Given the description of an element on the screen output the (x, y) to click on. 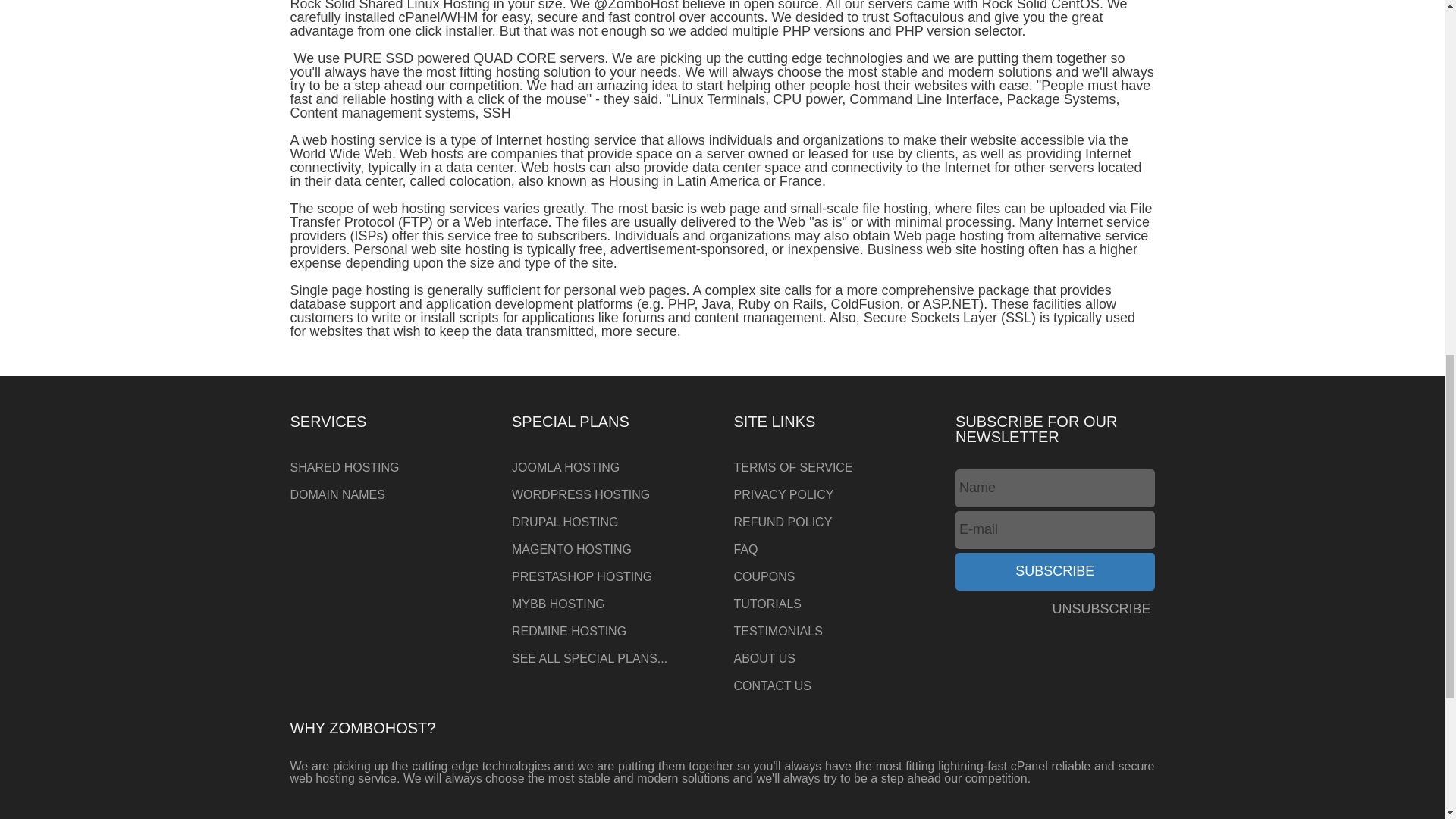
MAGENTO HOSTING (611, 549)
TESTIMONIALS (833, 631)
PRESTASHOP HOSTING (611, 576)
DOMAIN NAMES (389, 494)
Subscribe (1054, 571)
JOOMLA HOSTING (611, 467)
MYBB HOSTING (611, 604)
Subscribe (1054, 571)
SEE ALL SPECIAL PLANS... (611, 658)
CONTACT US (833, 686)
E-mail (1054, 529)
DRUPAL HOSTING (611, 522)
WORDPRESS HOSTING (611, 494)
REFUND POLICY (833, 522)
ABOUT US (833, 658)
